Given the description of an element on the screen output the (x, y) to click on. 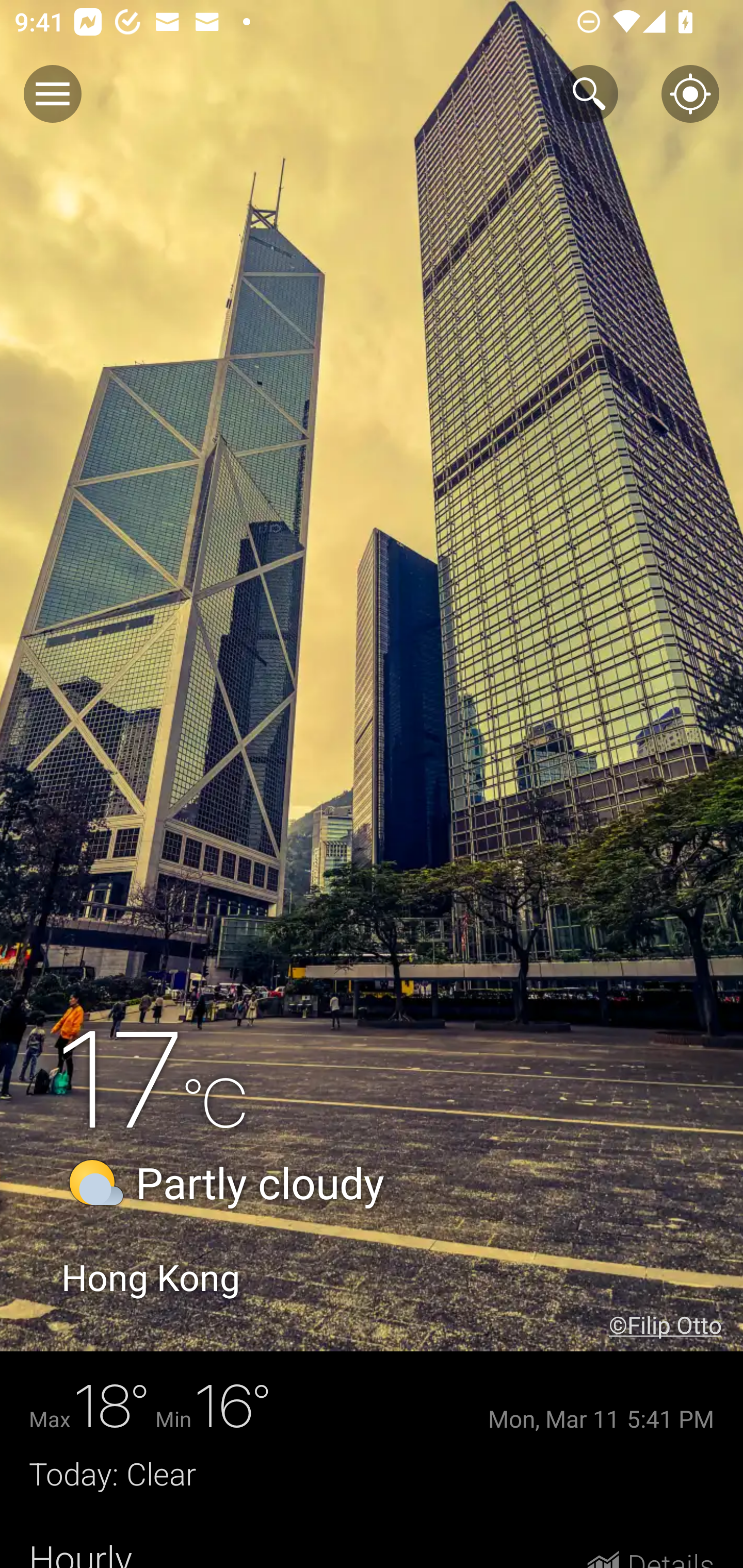
©Filip Otto (675, 1324)
